Given the description of an element on the screen output the (x, y) to click on. 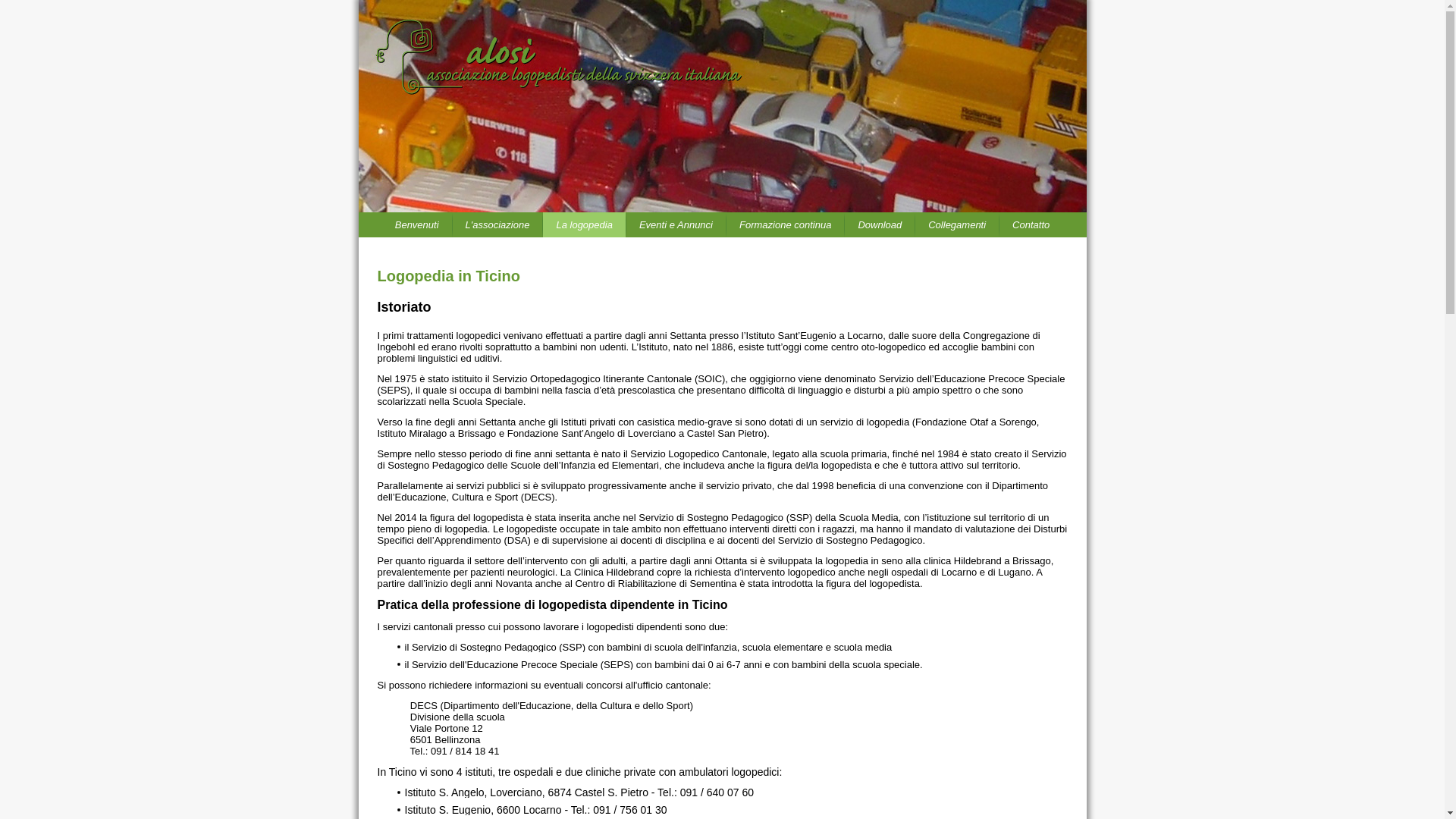
Benvenuti Element type: text (416, 224)
Contatto Element type: text (1030, 224)
La logopedia Element type: text (583, 224)
Formazione continua Element type: text (785, 224)
Collegamenti Element type: text (956, 224)
Eventi e Annunci Element type: text (675, 224)
Download Element type: text (879, 224)
L'associazione Element type: text (497, 224)
